Given the description of an element on the screen output the (x, y) to click on. 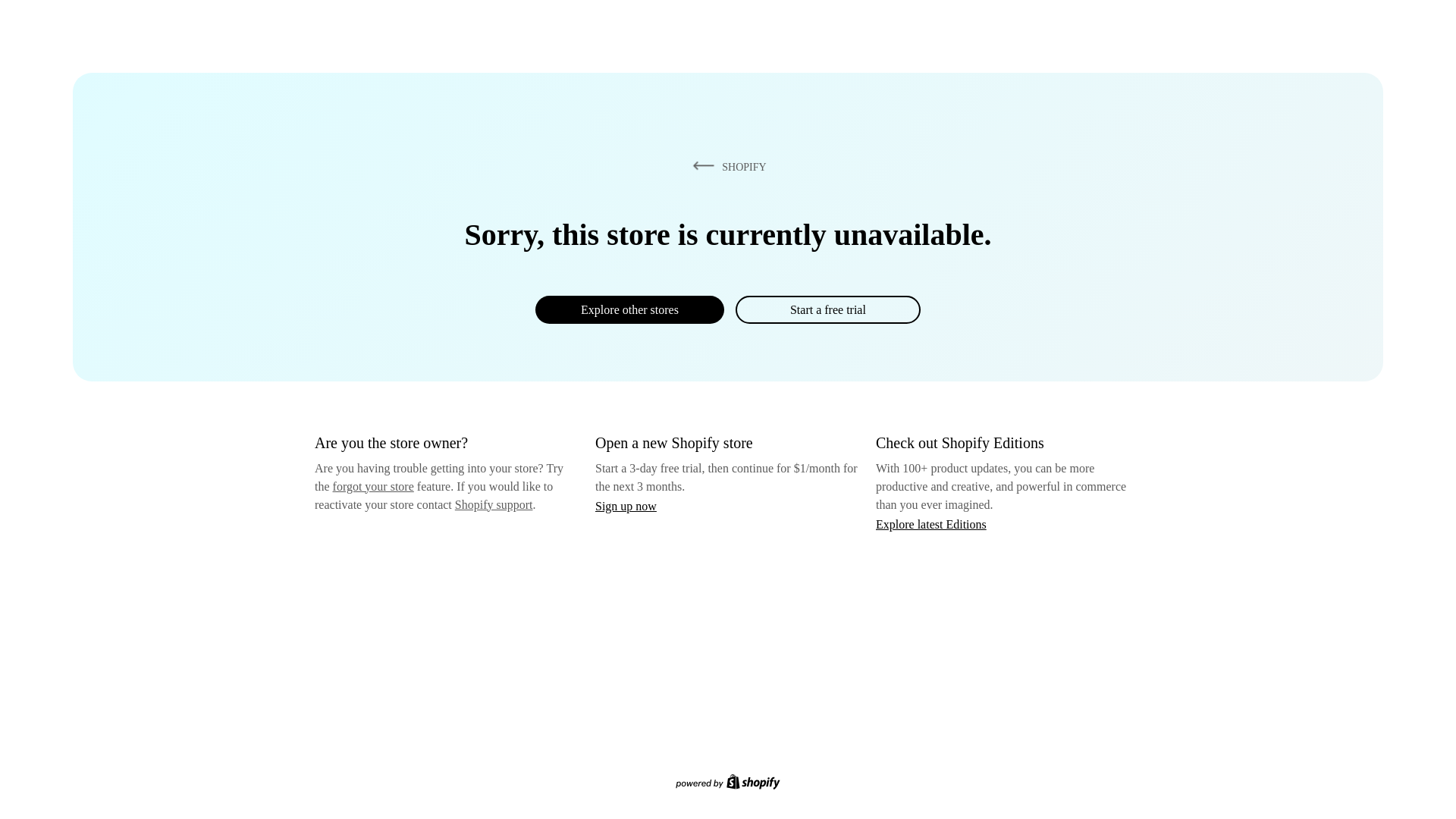
Shopify support (493, 504)
Explore latest Editions (931, 523)
forgot your store (373, 486)
SHOPIFY (726, 166)
Explore other stores (629, 309)
Sign up now (625, 505)
Start a free trial (827, 309)
